Given the description of an element on the screen output the (x, y) to click on. 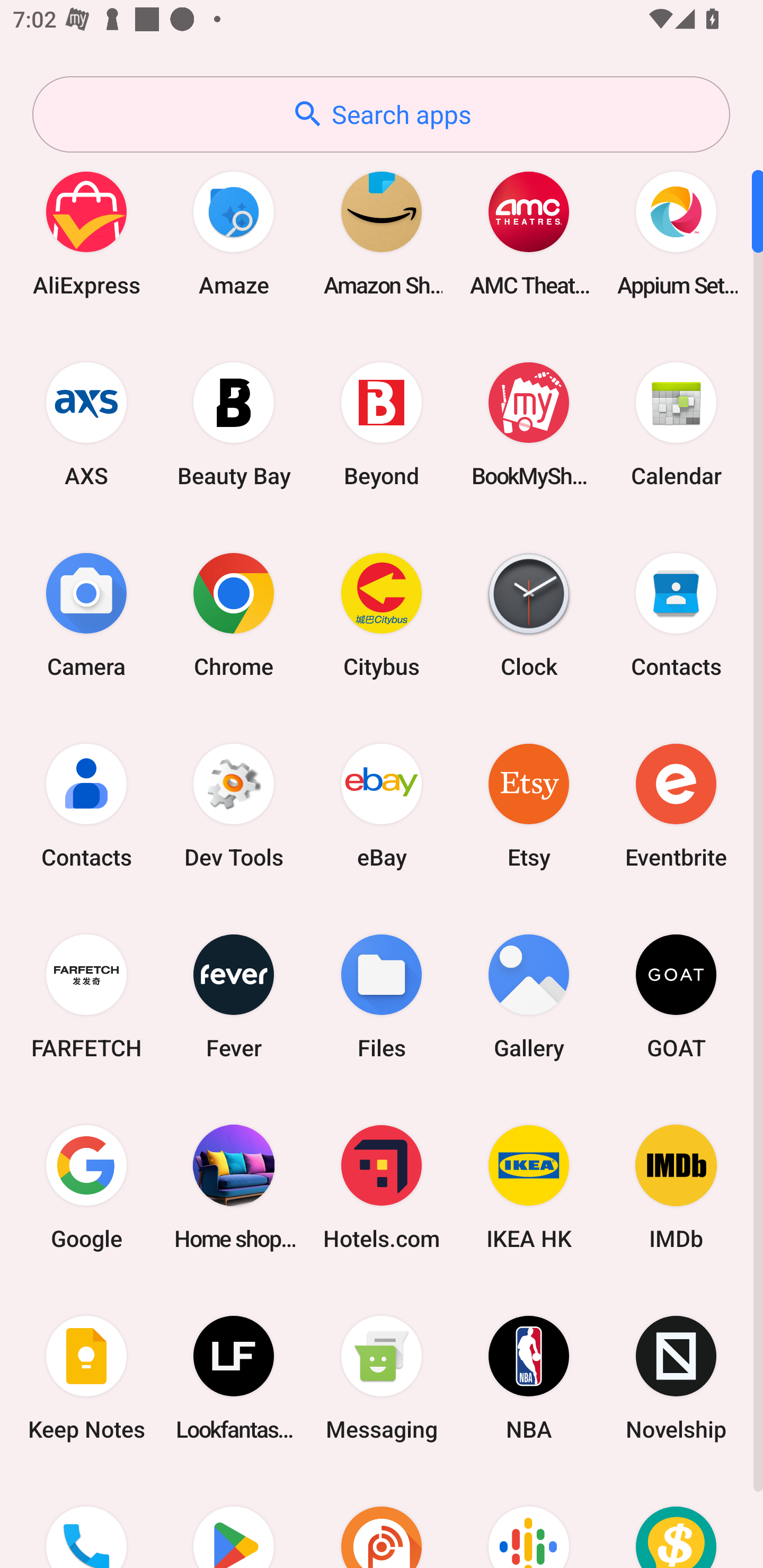
  Search apps (381, 114)
AliExpress (86, 233)
Amaze (233, 233)
Amazon Shopping (381, 233)
AMC Theatres (528, 233)
Appium Settings (676, 233)
AXS (86, 424)
Beauty Bay (233, 424)
Beyond (381, 424)
BookMyShow (528, 424)
Calendar (676, 424)
Camera (86, 614)
Chrome (233, 614)
Citybus (381, 614)
Clock (528, 614)
Contacts (676, 614)
Contacts (86, 805)
Dev Tools (233, 805)
eBay (381, 805)
Etsy (528, 805)
Eventbrite (676, 805)
FARFETCH (86, 996)
Fever (233, 996)
Files (381, 996)
Gallery (528, 996)
GOAT (676, 996)
Google (86, 1186)
Home shopping (233, 1186)
Hotels.com (381, 1186)
IKEA HK (528, 1186)
IMDb (676, 1186)
Keep Notes (86, 1377)
Lookfantastic (233, 1377)
Messaging (381, 1377)
NBA (528, 1377)
Novelship (676, 1377)
Phone (86, 1520)
Play Store (233, 1520)
Podcast Addict (381, 1520)
Podcasts (528, 1520)
Price (676, 1520)
